Given the description of an element on the screen output the (x, y) to click on. 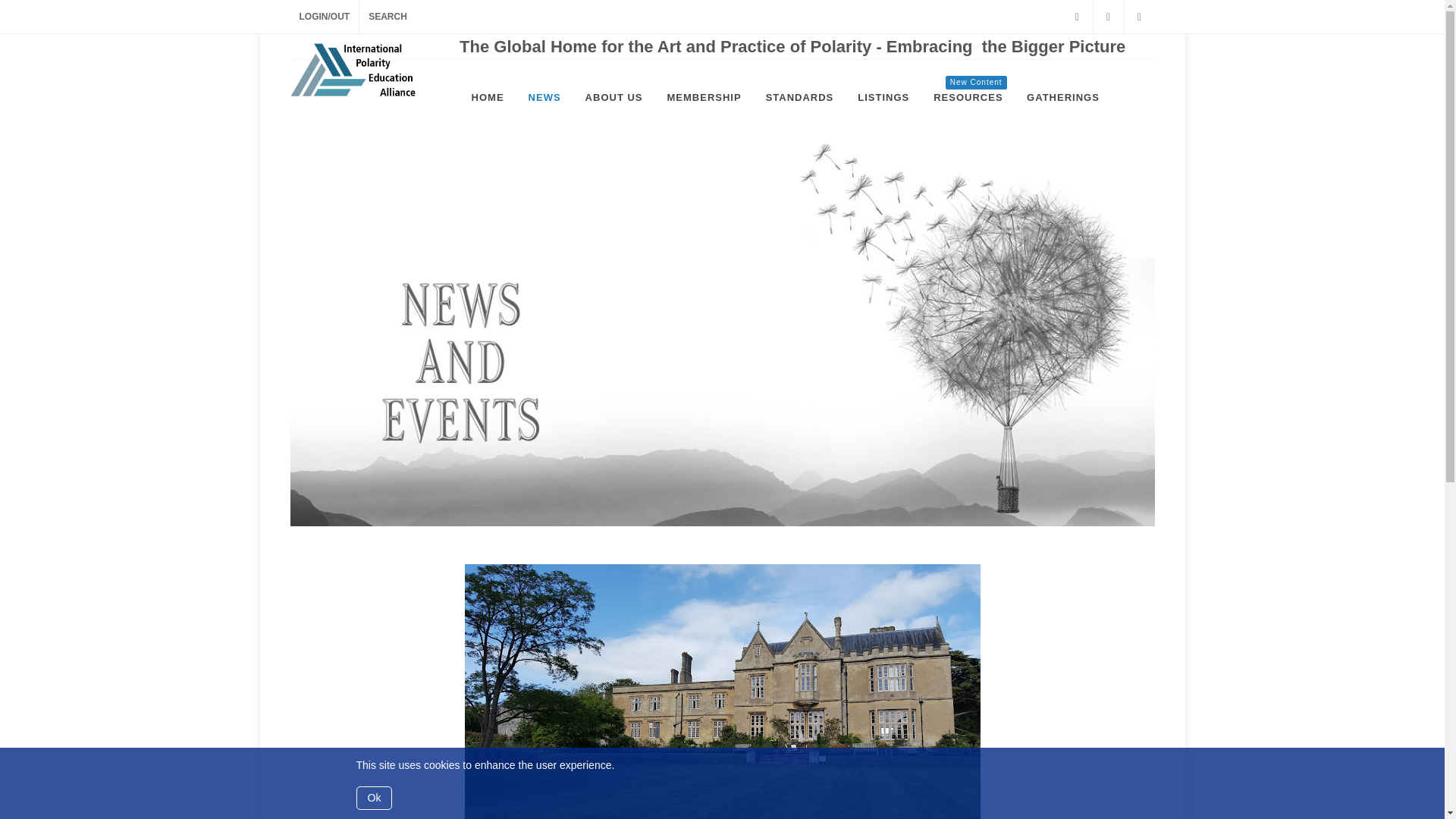
ABOUT US (613, 97)
SEARCH (387, 16)
STANDARDS (799, 97)
LISTINGS (882, 97)
MEMBERSHIP (967, 97)
